Given the description of an element on the screen output the (x, y) to click on. 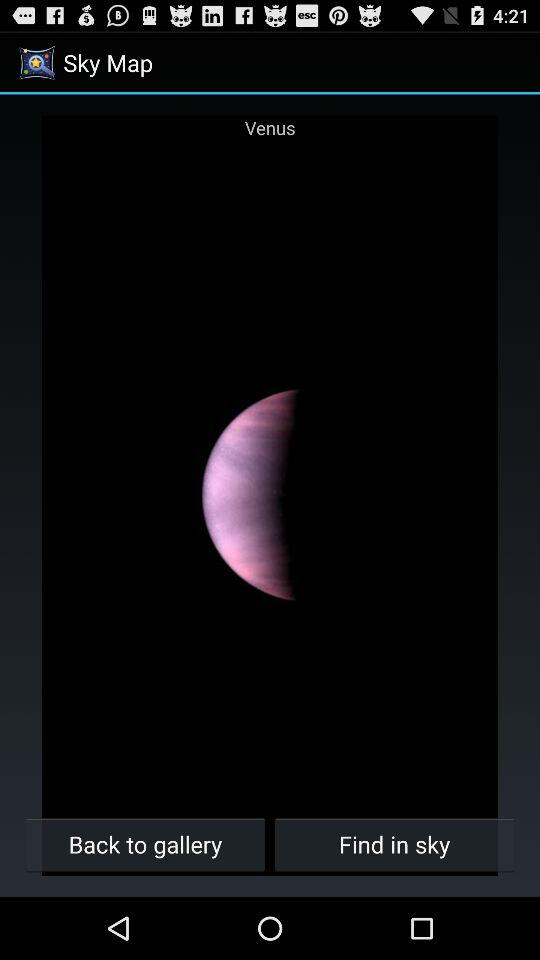
launch the item below venus icon (145, 844)
